Given the description of an element on the screen output the (x, y) to click on. 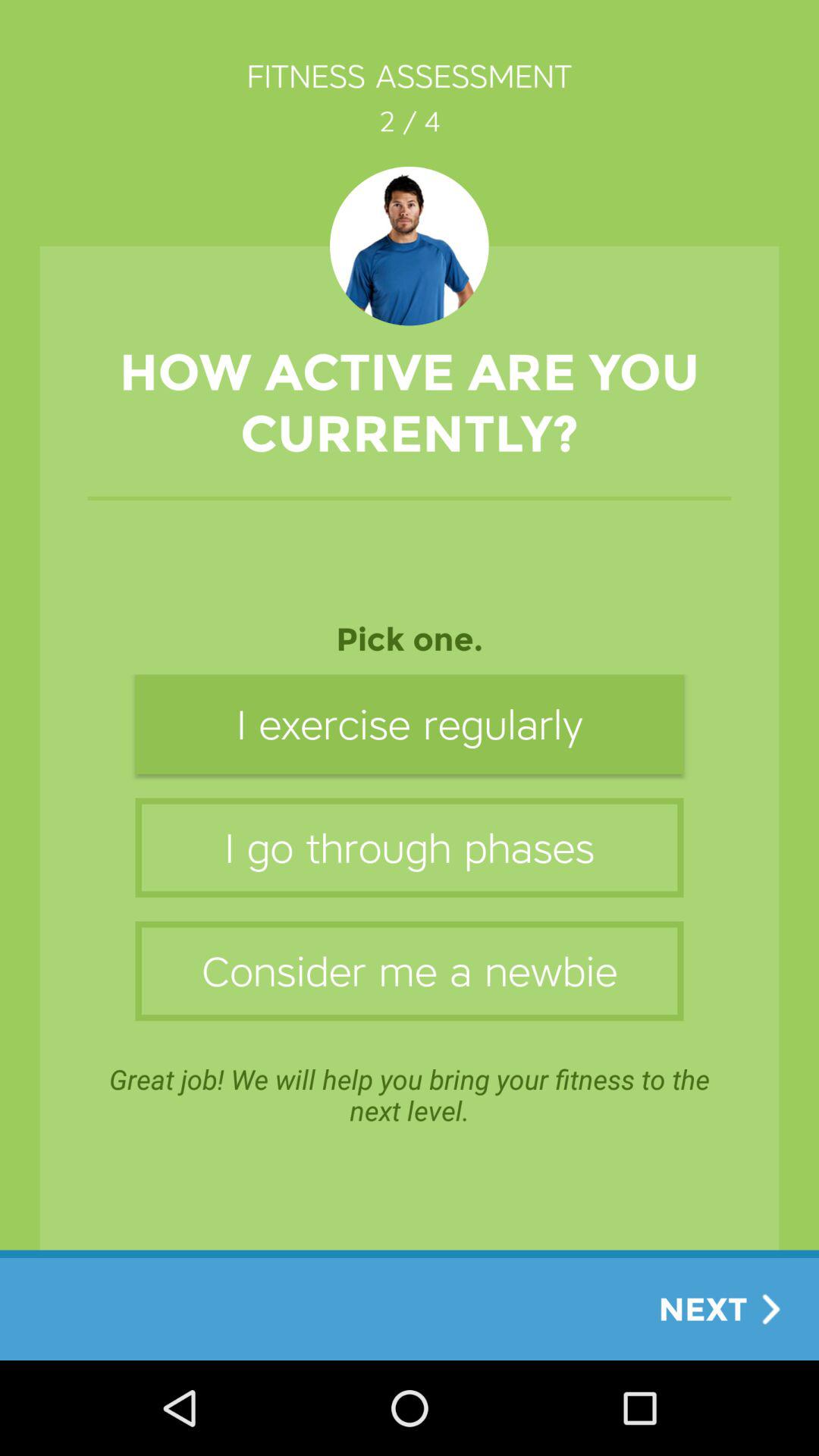
flip to the consider me a icon (409, 970)
